Given the description of an element on the screen output the (x, y) to click on. 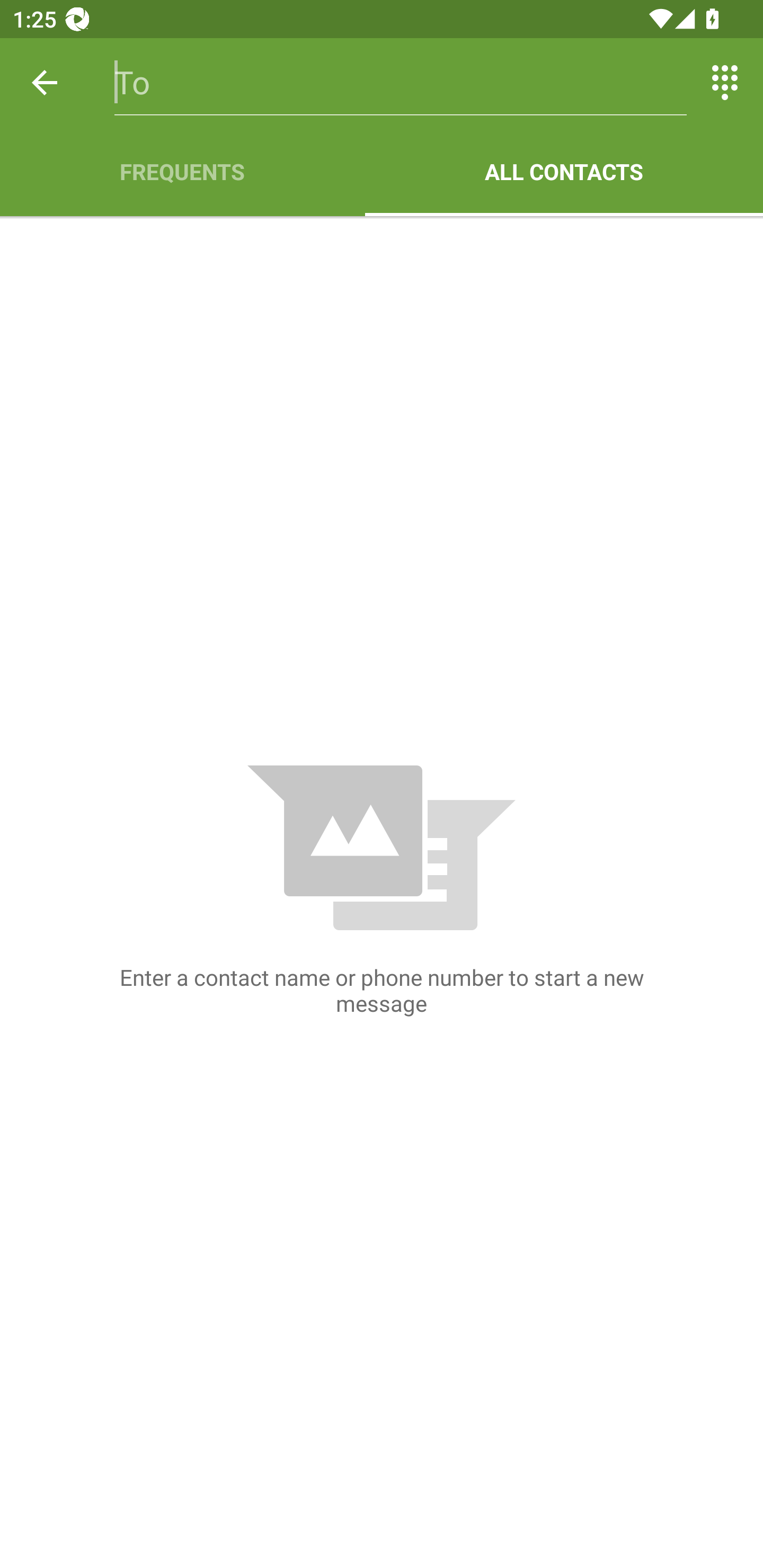
Back (44, 82)
Switch between entering text and numbers (724, 81)
To (400, 82)
FREQUENTS (182, 171)
ALL CONTACTS (563, 171)
